Given the description of an element on the screen output the (x, y) to click on. 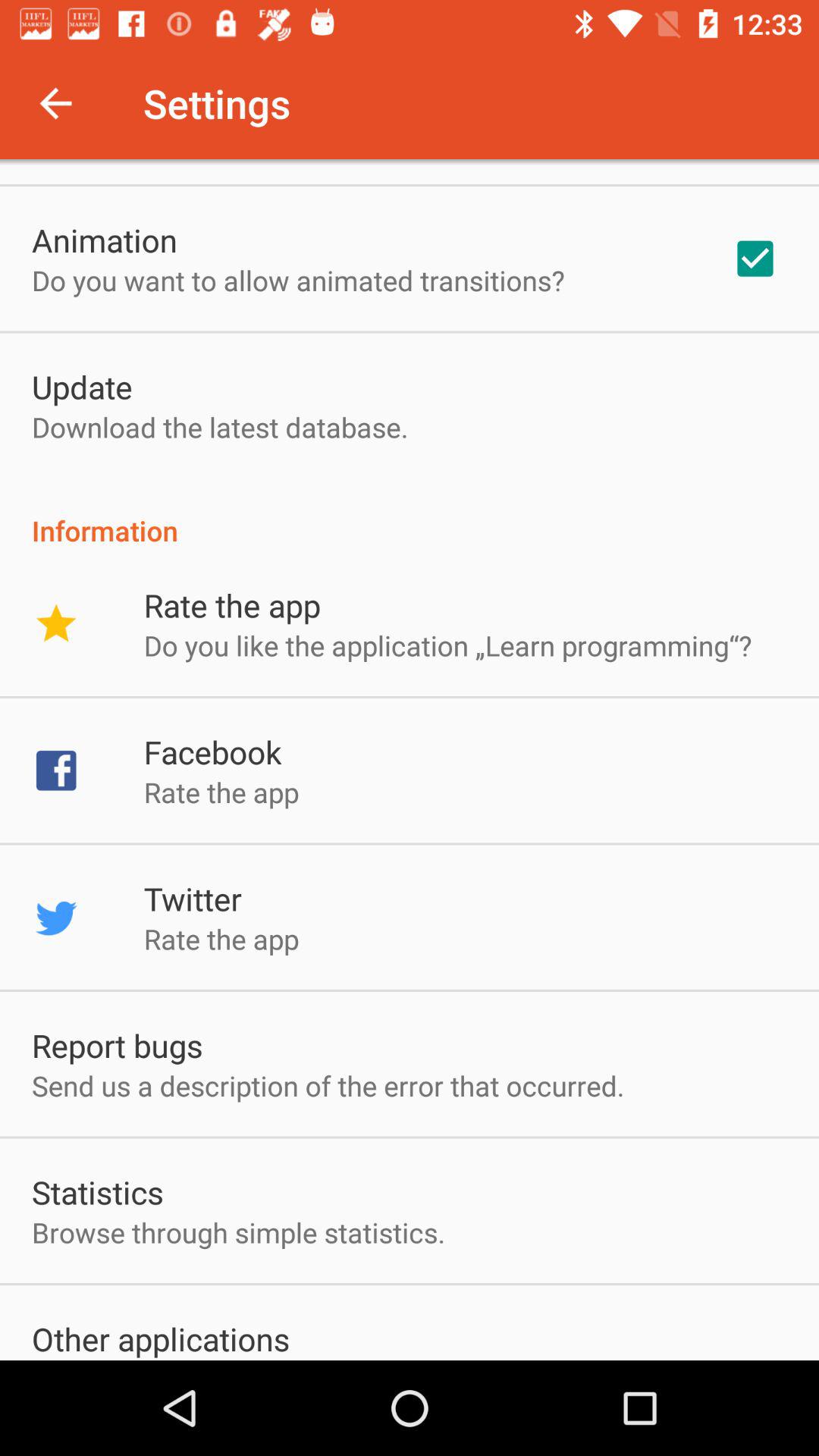
turn on the app above the rate the app (409, 514)
